Given the description of an element on the screen output the (x, y) to click on. 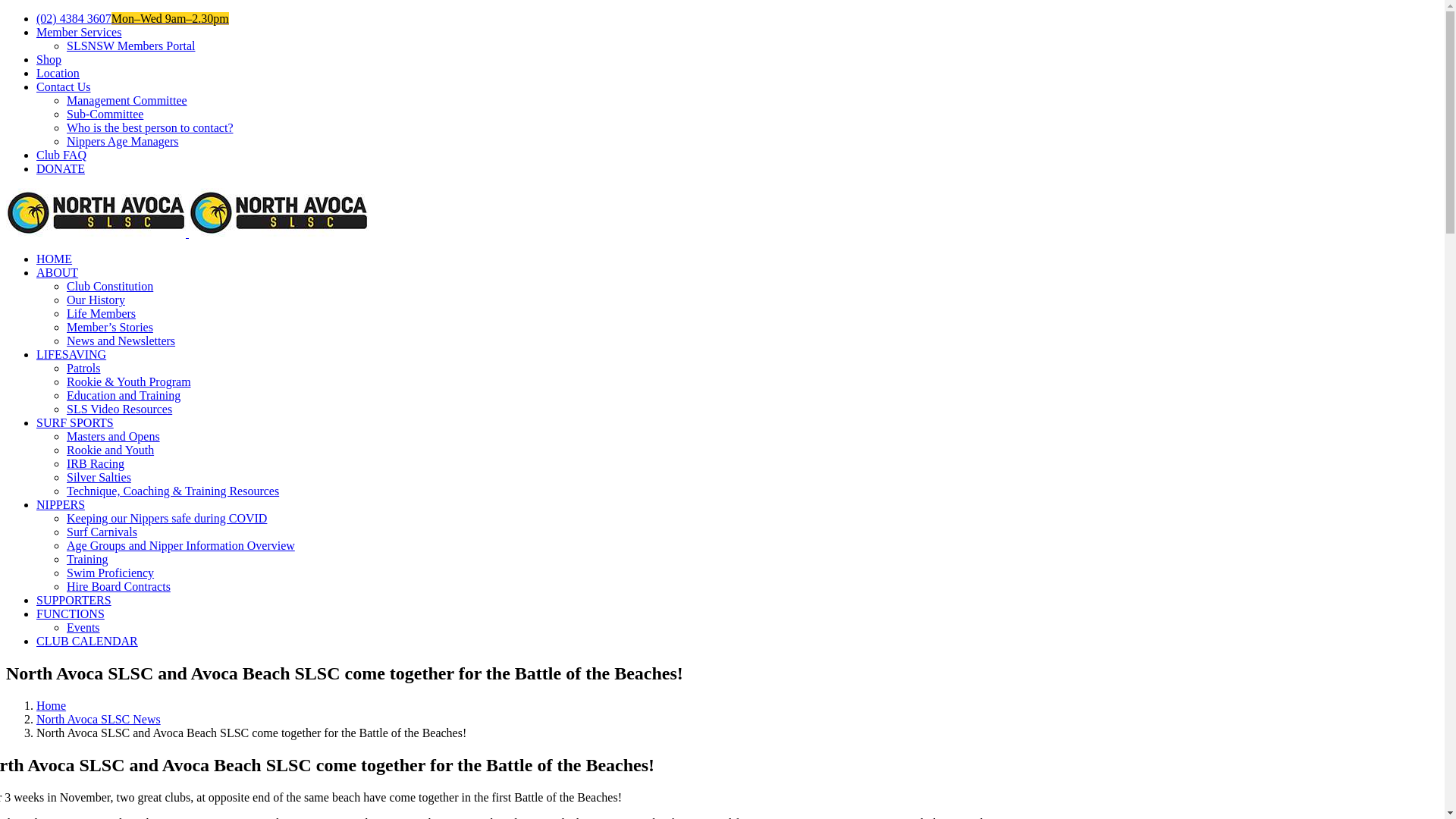
SLSNSW Members Portal Element type: text (130, 45)
SURF SPORTS Element type: text (74, 422)
Who is the best person to contact? Element type: text (149, 127)
FUNCTIONS Element type: text (70, 613)
Management Committee Element type: text (126, 100)
Masters and Opens Element type: text (113, 435)
NIPPERS Element type: text (60, 504)
Nippers Age Managers Element type: text (122, 140)
Home Element type: text (50, 705)
SUPPORTERS Element type: text (73, 599)
Patrols Element type: text (83, 367)
Skip to content Element type: text (5, 11)
Contact Us Element type: text (63, 86)
Age Groups and Nipper Information Overview Element type: text (180, 545)
Training Element type: text (87, 558)
IRB Racing Element type: text (95, 463)
Events Element type: text (83, 627)
Our History Element type: text (95, 299)
Hire Board Contracts Element type: text (118, 586)
Education and Training Element type: text (123, 395)
HOME Element type: text (54, 258)
North Avoca SLSC News Element type: text (98, 718)
Club Constitution Element type: text (109, 285)
Location Element type: text (57, 72)
Technique, Coaching & Training Resources Element type: text (172, 490)
Sub-Committee Element type: text (104, 113)
LIFESAVING Element type: text (71, 354)
Life Members Element type: text (100, 313)
Swim Proficiency Element type: text (109, 572)
Surf Carnivals Element type: text (101, 531)
Keeping our Nippers safe during COVID Element type: text (166, 517)
SLS Video Resources Element type: text (119, 408)
CLUB CALENDAR Element type: text (87, 640)
News and Newsletters Element type: text (120, 340)
Rookie & Youth Program Element type: text (128, 381)
ABOUT Element type: text (57, 272)
DONATE Element type: text (60, 168)
Club FAQ Element type: text (61, 154)
Silver Salties Element type: text (98, 476)
Shop Element type: text (48, 59)
Rookie and Youth Element type: text (109, 449)
Member Services Element type: text (78, 31)
